Given the description of an element on the screen output the (x, y) to click on. 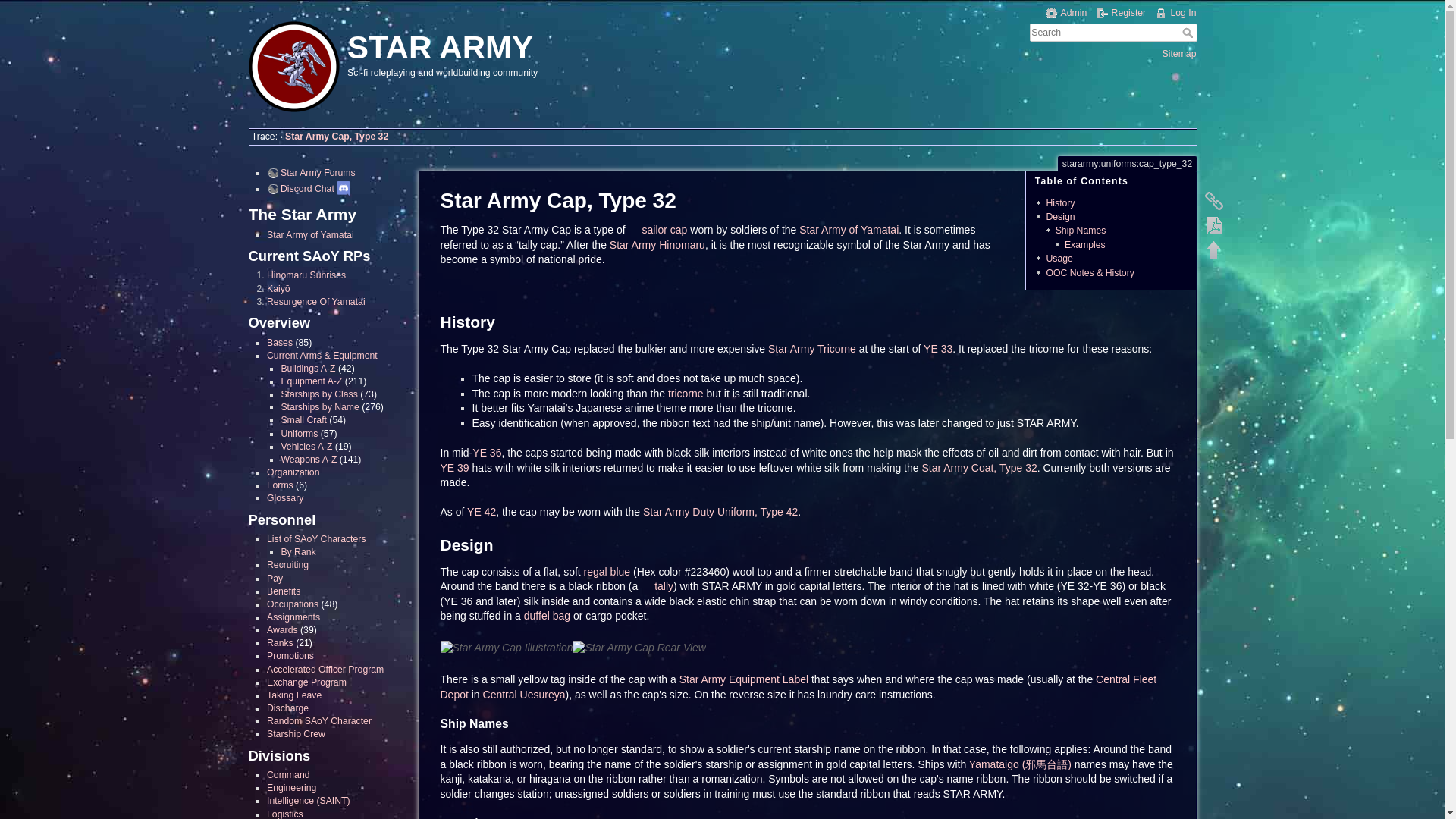
Recruiting (287, 564)
Pay (274, 578)
Discord Chat (300, 188)
Admin (1066, 12)
Bases (279, 342)
Uniforms (299, 433)
Accelerated Officer Program (325, 669)
Star Army of Yamatai (309, 235)
Log In (1174, 12)
Benefits (282, 591)
Hinomaru Sunrises (306, 275)
Organization (292, 471)
Starships by Name (320, 407)
Log In (1174, 12)
Vehicles A-Z (306, 446)
